Given the description of an element on the screen output the (x, y) to click on. 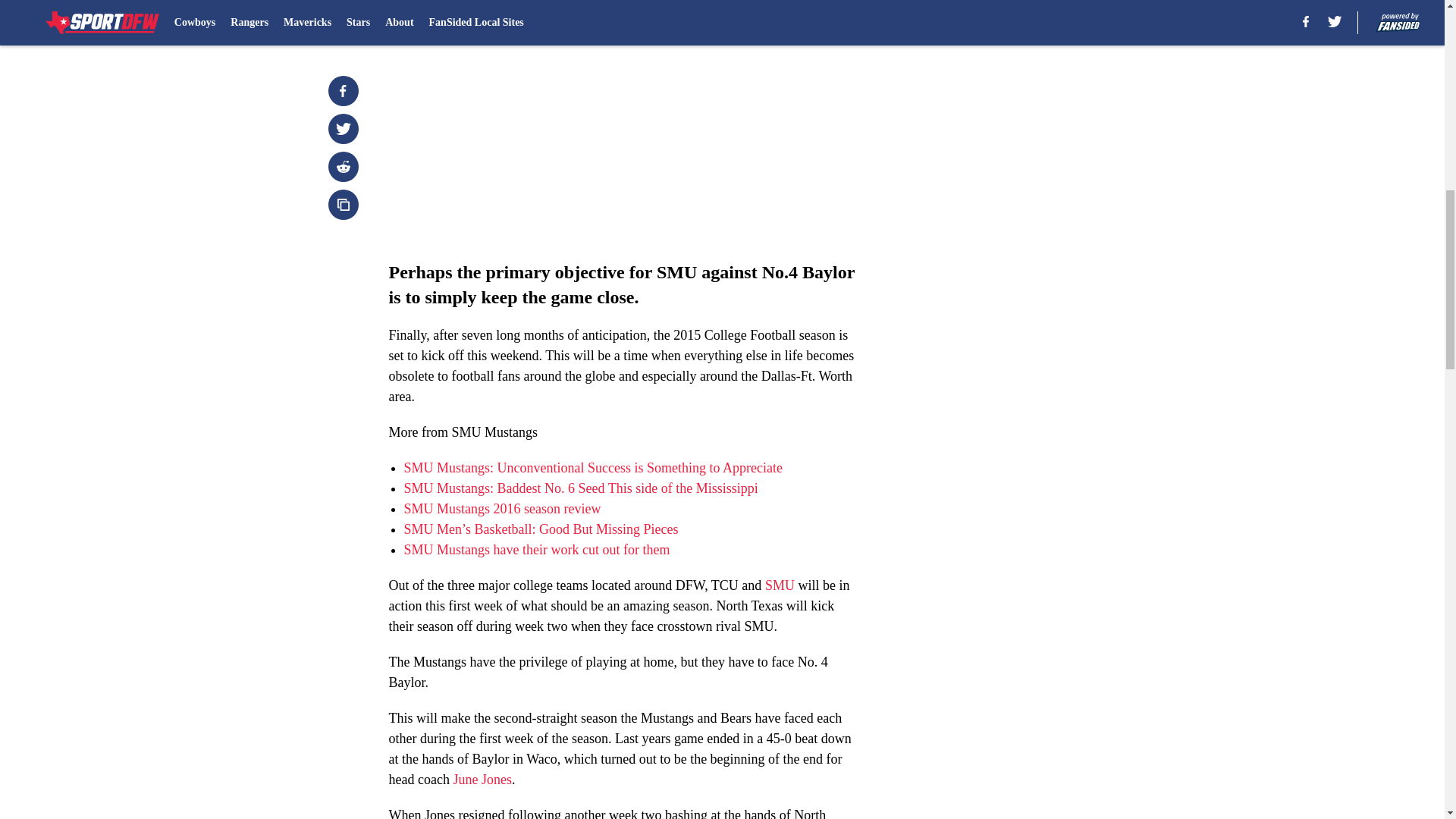
June Jones (482, 779)
SMU Mustangs have their work cut out for them (536, 549)
SMU Mustangs 2016 season review (501, 508)
SMU (779, 585)
